Given the description of an element on the screen output the (x, y) to click on. 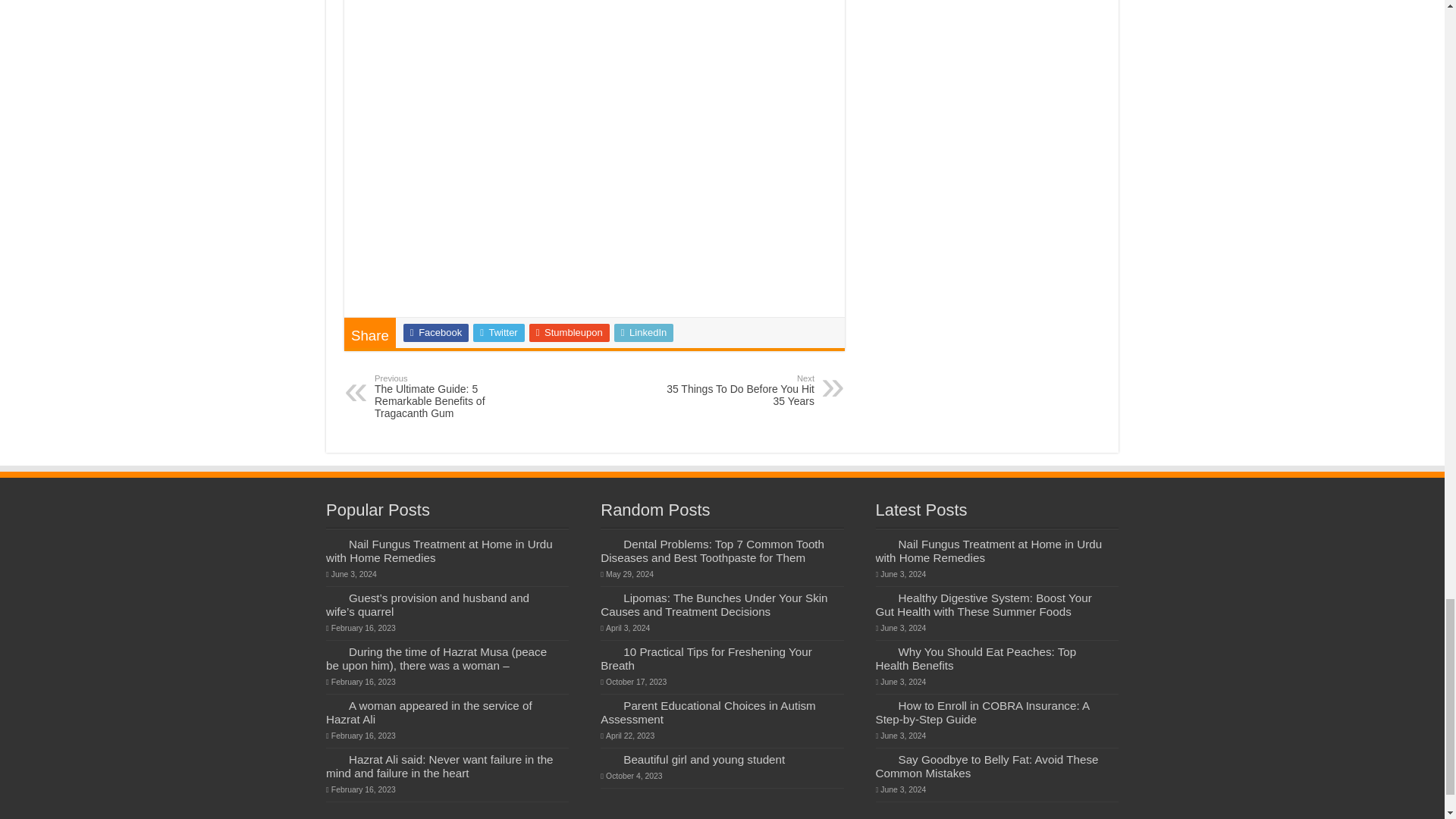
Advertisement (594, 190)
Twitter (498, 332)
Facebook (435, 332)
LinkedIn (644, 332)
Stumbleupon (736, 390)
